Given the description of an element on the screen output the (x, y) to click on. 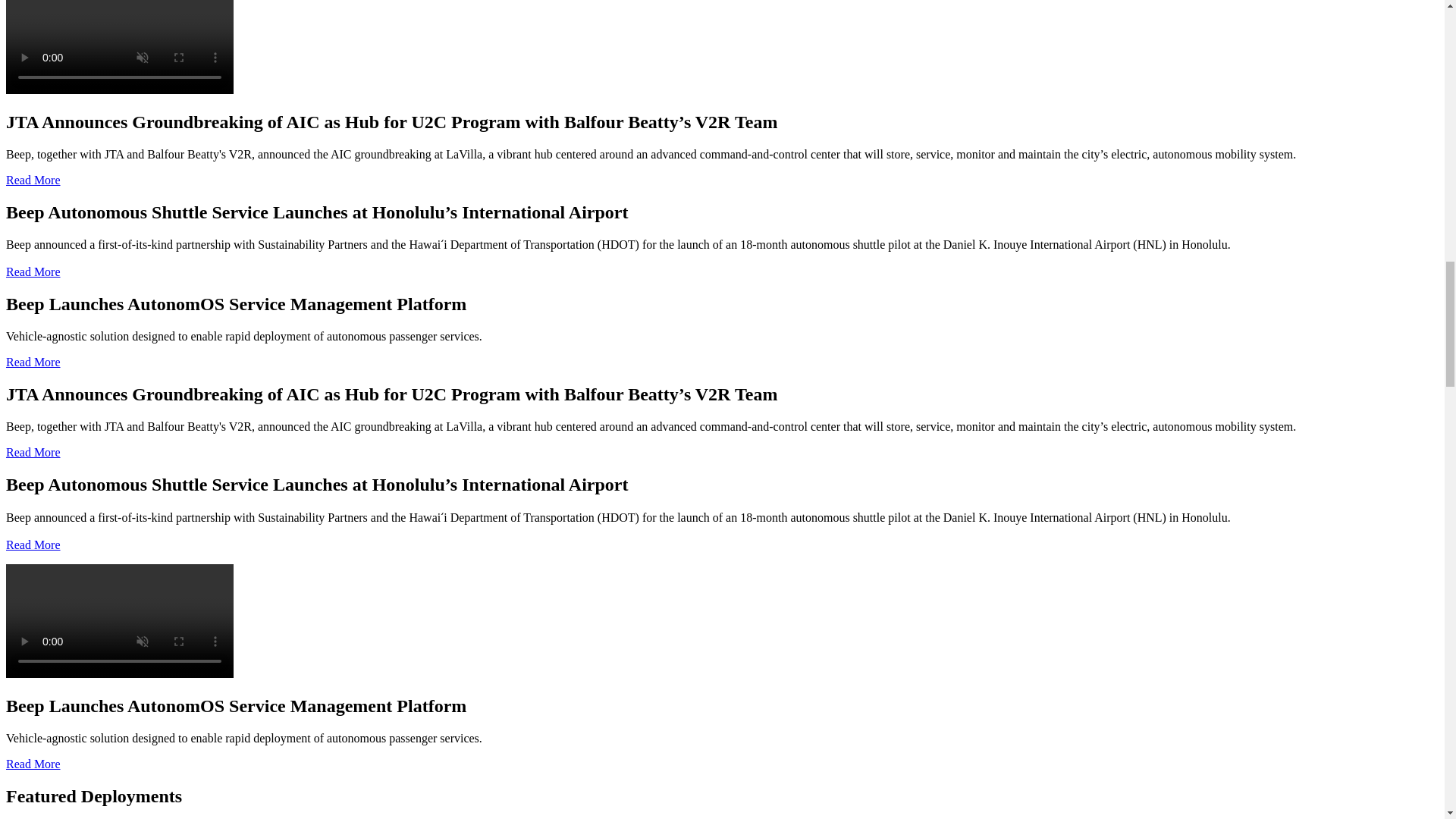
Read More (33, 271)
Read More (33, 179)
Read More (33, 544)
Read More (33, 361)
Read More (33, 451)
